Given the description of an element on the screen output the (x, y) to click on. 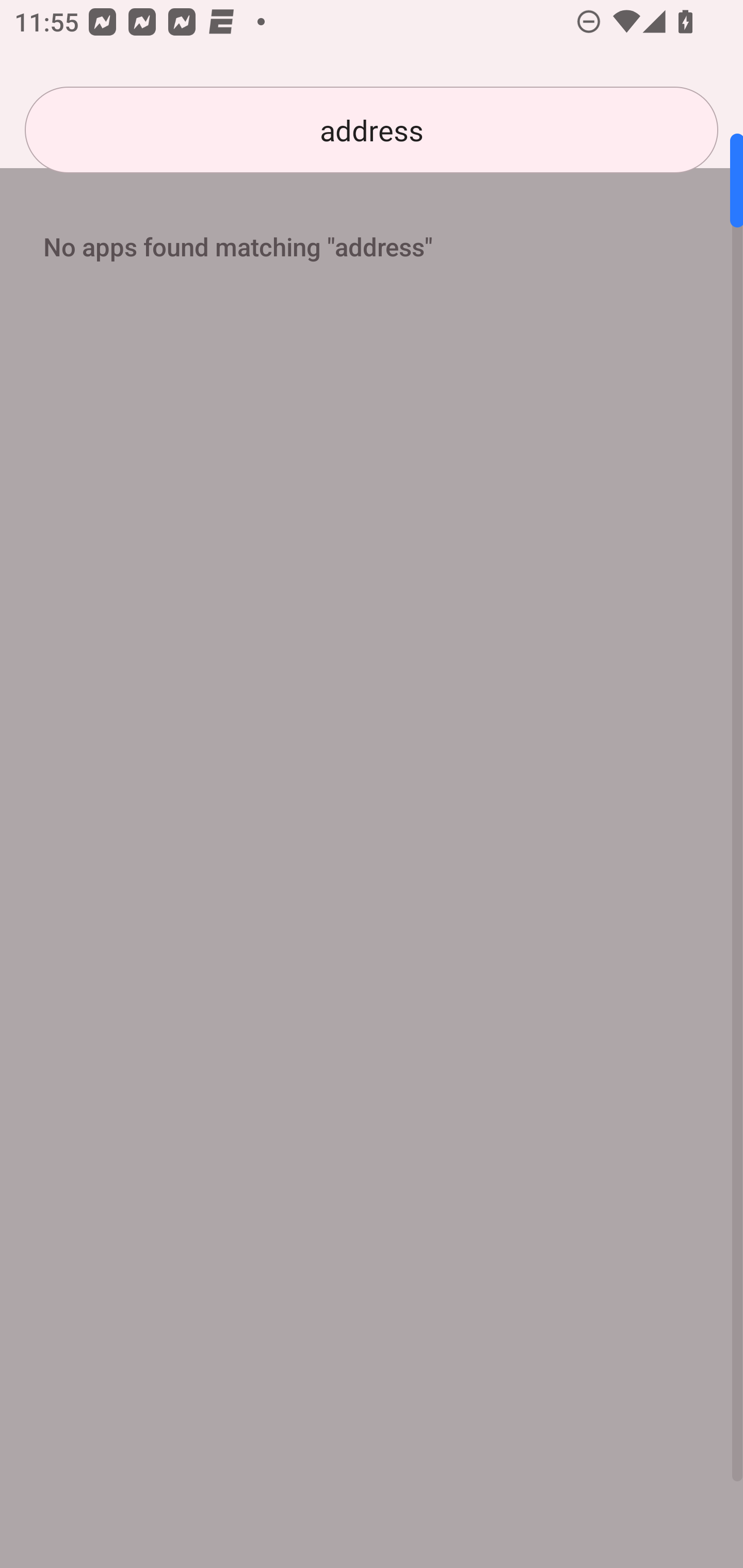
address (371, 130)
